Given the description of an element on the screen output the (x, y) to click on. 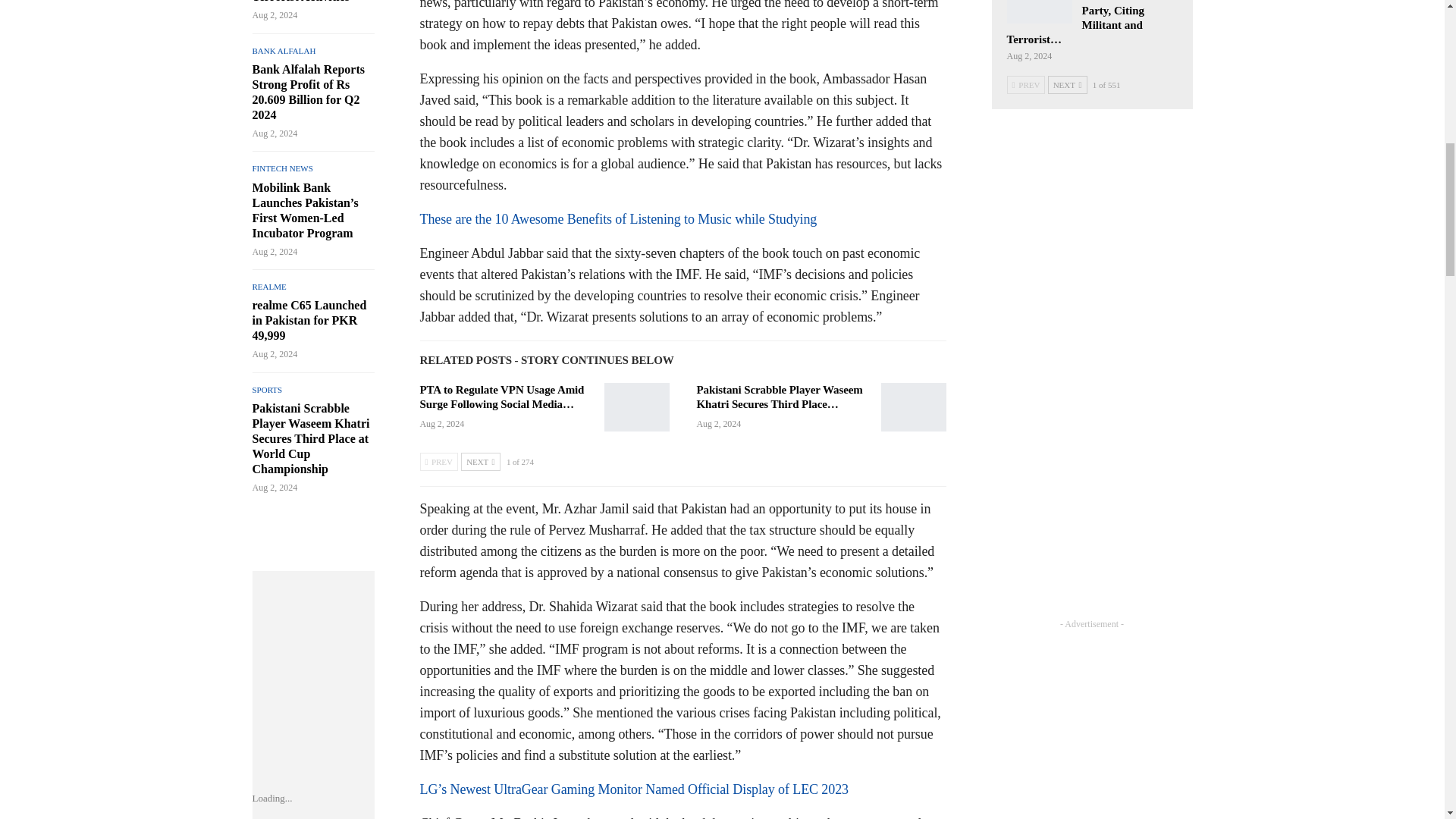
Previous (439, 461)
Next (480, 461)
